Given the description of an element on the screen output the (x, y) to click on. 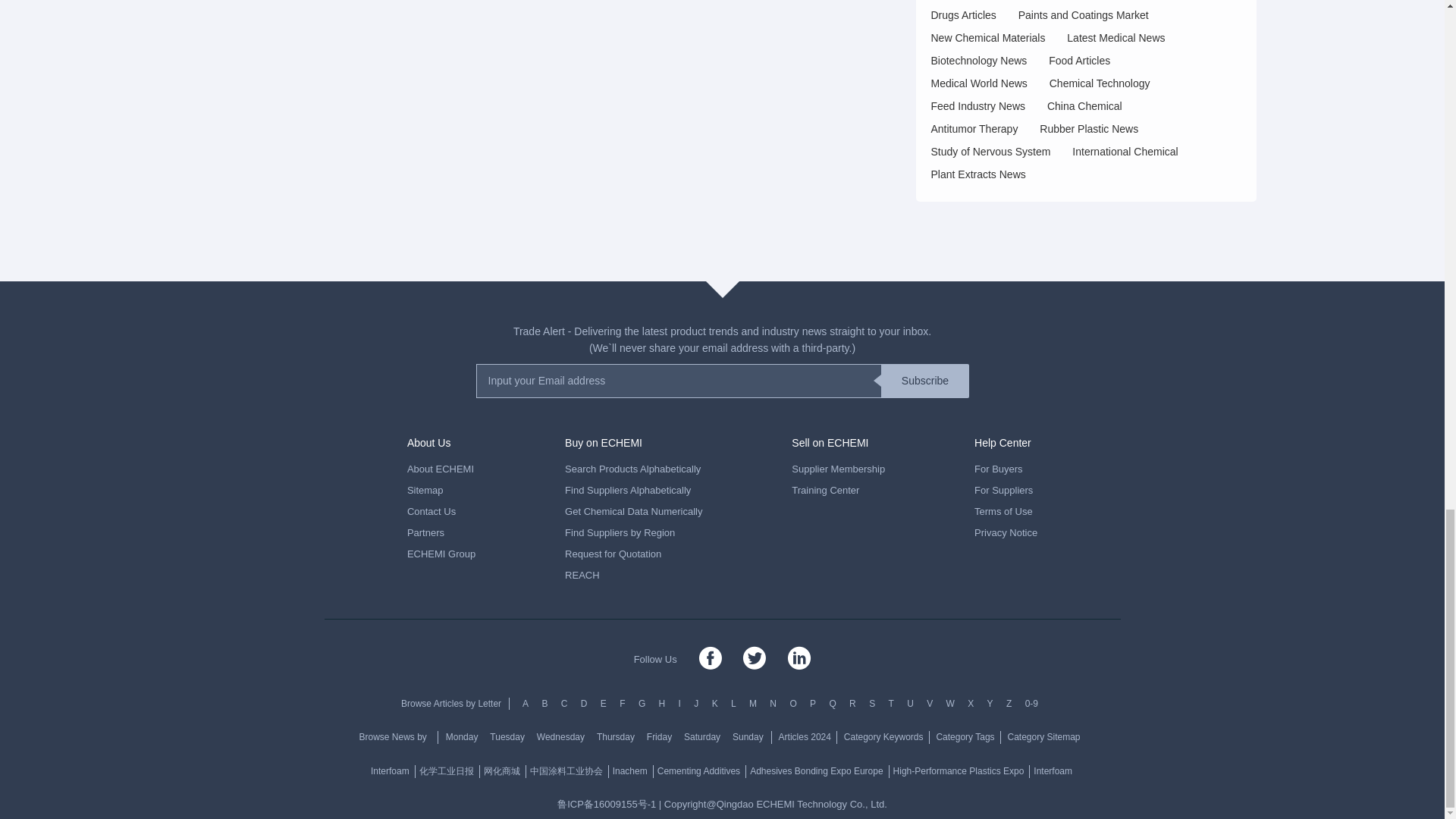
Interfoam (390, 771)
Interfoam (1053, 771)
Adhesives Bonding Expo Europe (816, 771)
Inachem (630, 771)
High-Performance Plastics Expo (959, 771)
Cementing Additives (699, 771)
